Given the description of an element on the screen output the (x, y) to click on. 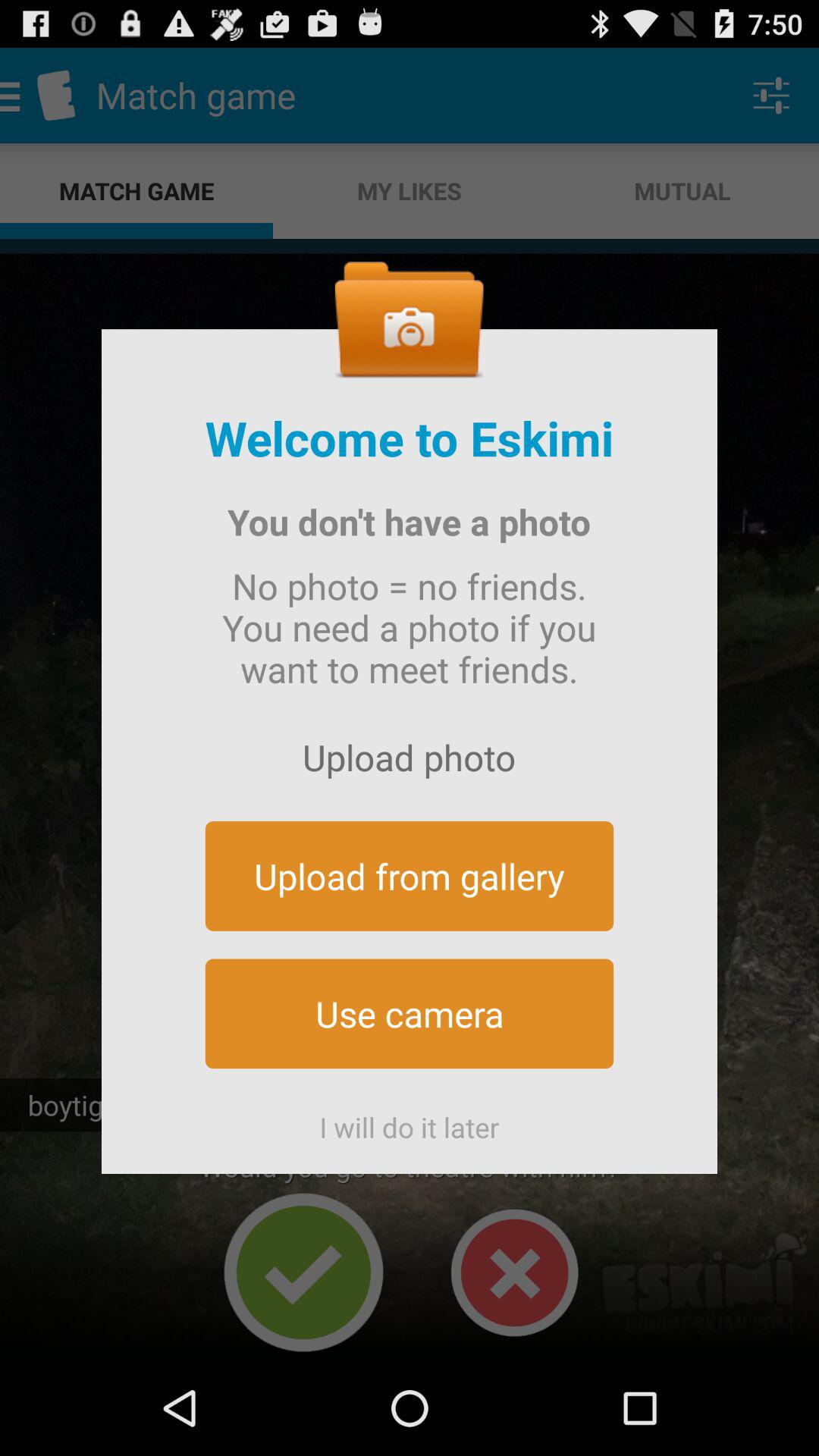
swipe until the upload from gallery icon (409, 876)
